Given the description of an element on the screen output the (x, y) to click on. 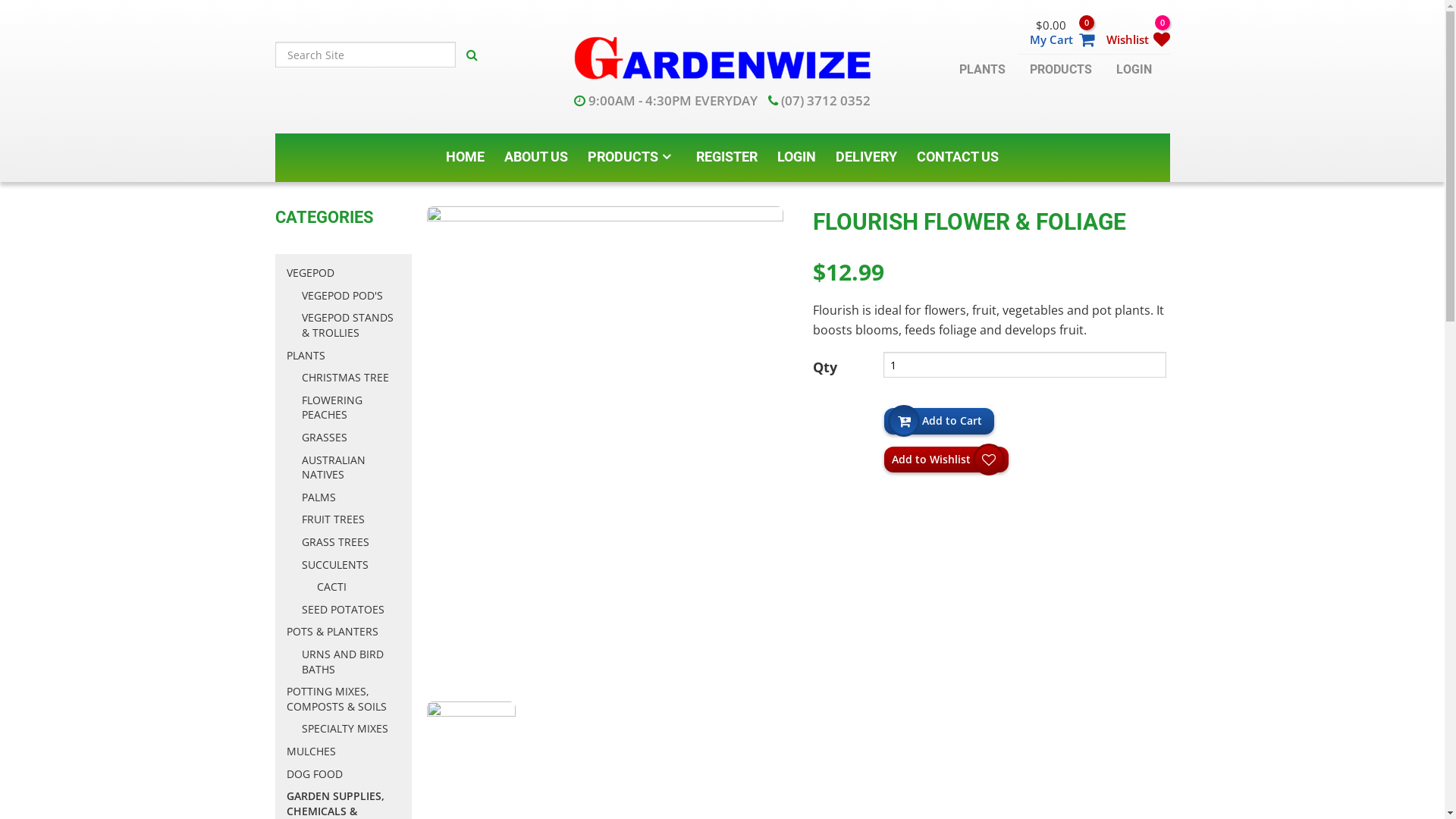
PLANTS Element type: text (981, 68)
Add to Wishlist Element type: text (946, 459)
CONTACT US Element type: text (957, 156)
SPECIALTY MIXES Element type: text (351, 728)
PLANTS Element type: text (343, 355)
VEGEPOD STANDS & TROLLIES Element type: text (351, 324)
VEGEPOD Element type: text (343, 272)
SUCCULENTS Element type: text (351, 564)
(07) 3712 0352 Element type: text (819, 100)
GRASS TREES Element type: text (351, 541)
$0.00
My Cart
0 Element type: text (1055, 30)
LOGIN Element type: text (1134, 68)
Qty Element type: hover (1024, 364)
URNS AND BIRD BATHS Element type: text (351, 661)
DOG FOOD Element type: text (343, 773)
Add to Cart Element type: text (939, 420)
PRODUCTS Element type: text (631, 156)
Flourish 500g Element type: hover (604, 447)
9:00AM - 4:30PM EVERYDAY Element type: text (665, 100)
CHRISTMAS TREE Element type: text (351, 377)
ABOUT US Element type: text (535, 156)
FLOWERING PEACHES Element type: text (351, 407)
POTS & PLANTERS Element type: text (343, 631)
VEGEPOD POD'S Element type: text (351, 295)
FRUIT TREES Element type: text (351, 519)
flourish-back Element type: hover (470, 745)
SEED POTATOES Element type: text (351, 609)
Gardenwize Nursery Element type: hover (721, 55)
GRASSES Element type: text (351, 437)
Find Element type: hover (471, 54)
DELIVERY Element type: text (866, 156)
PALMS Element type: text (351, 497)
REGISTER Element type: text (726, 156)
HOME Element type: text (464, 156)
LOGIN Element type: text (796, 156)
Wishlist
0 Element type: text (1131, 30)
CACTI Element type: text (358, 586)
MULCHES Element type: text (343, 751)
AUSTRALIAN NATIVES Element type: text (351, 467)
PRODUCTS Element type: text (1060, 68)
POTTING MIXES, COMPOSTS & SOILS Element type: text (343, 698)
